Given the description of an element on the screen output the (x, y) to click on. 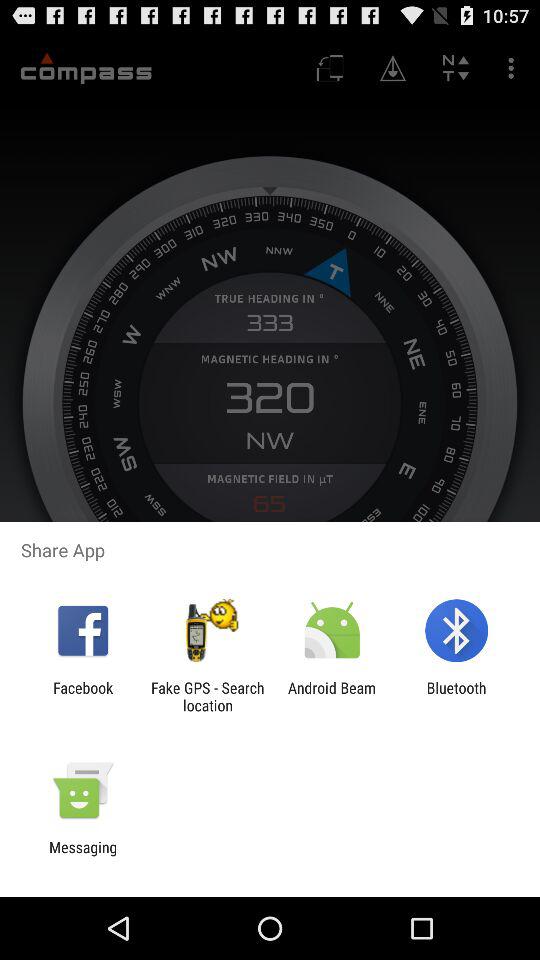
choose the fake gps search item (207, 696)
